Given the description of an element on the screen output the (x, y) to click on. 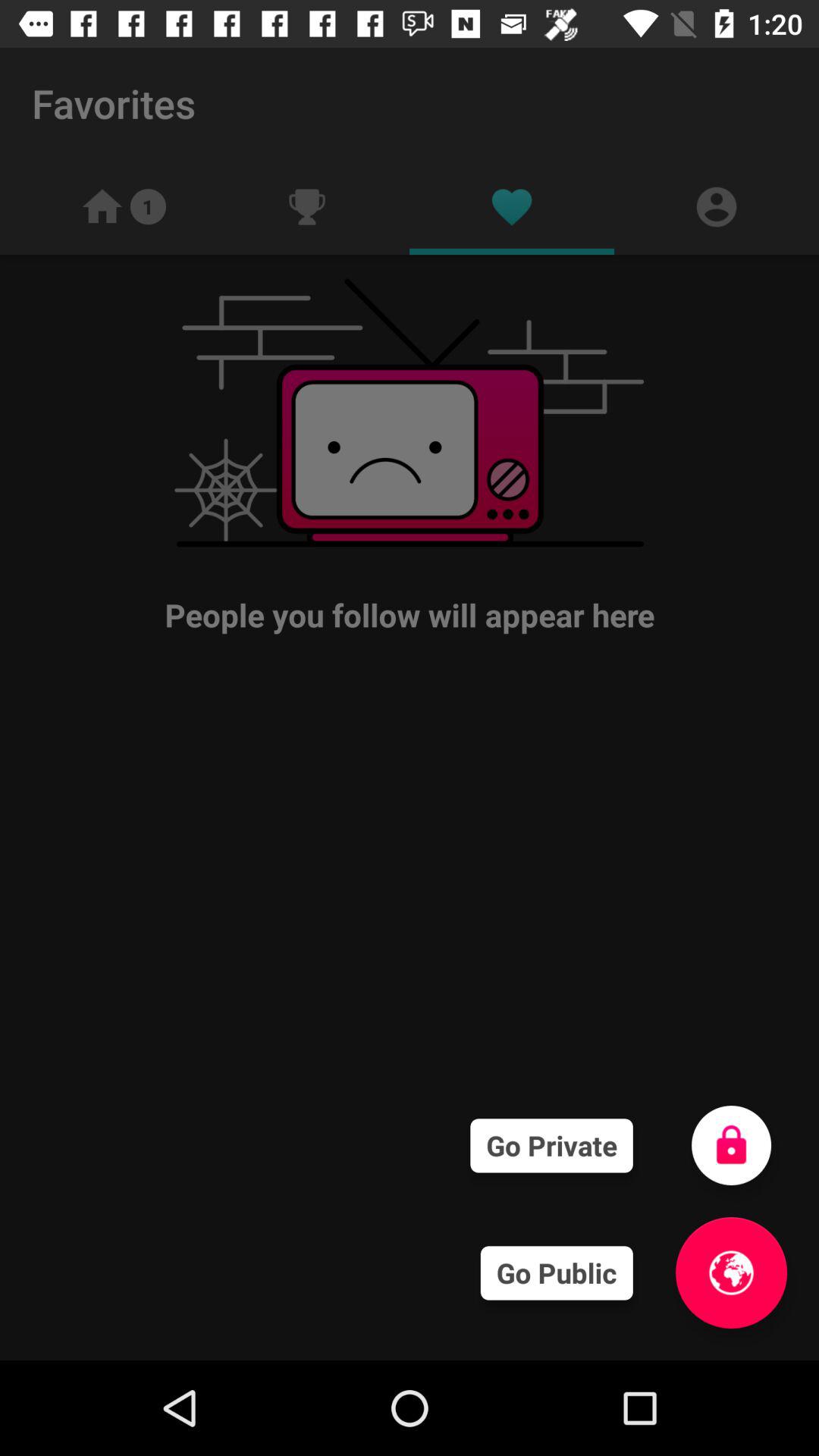
make it public (731, 1272)
